Given the description of an element on the screen output the (x, y) to click on. 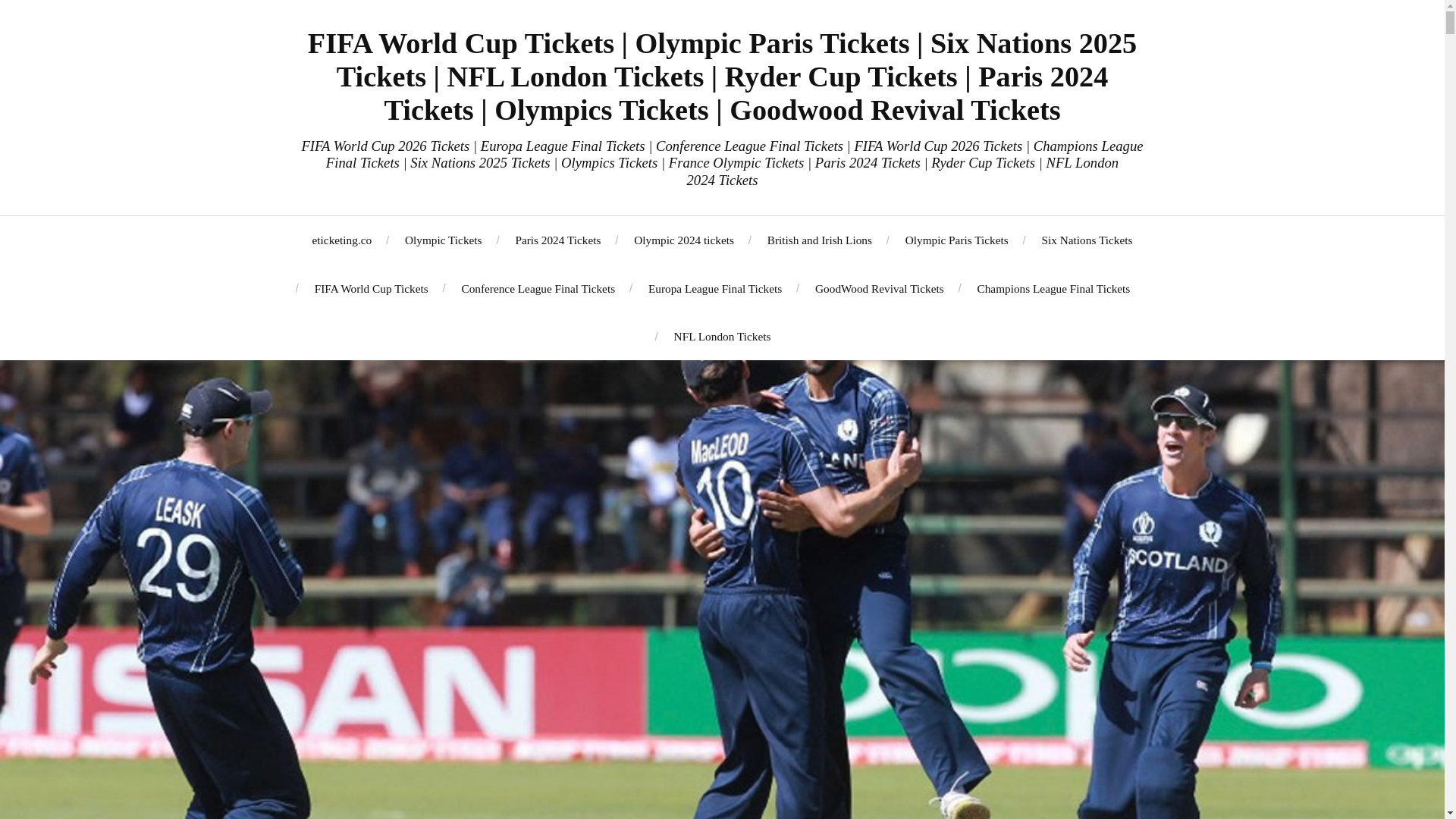
eticketing.co (342, 239)
GoodWood Revival Tickets (879, 288)
Olympic Paris Tickets (957, 239)
Champions League Final Tickets (1052, 288)
British and Irish Lions (819, 239)
Olympic Tickets (442, 239)
Conference League Final Tickets (537, 288)
FIFA World Cup Tickets (371, 288)
NFL London Tickets (722, 336)
Six Nations Tickets (1087, 239)
Europa League Final Tickets (714, 288)
Paris 2024 Tickets (557, 239)
Olympic 2024 tickets (683, 239)
